Given the description of an element on the screen output the (x, y) to click on. 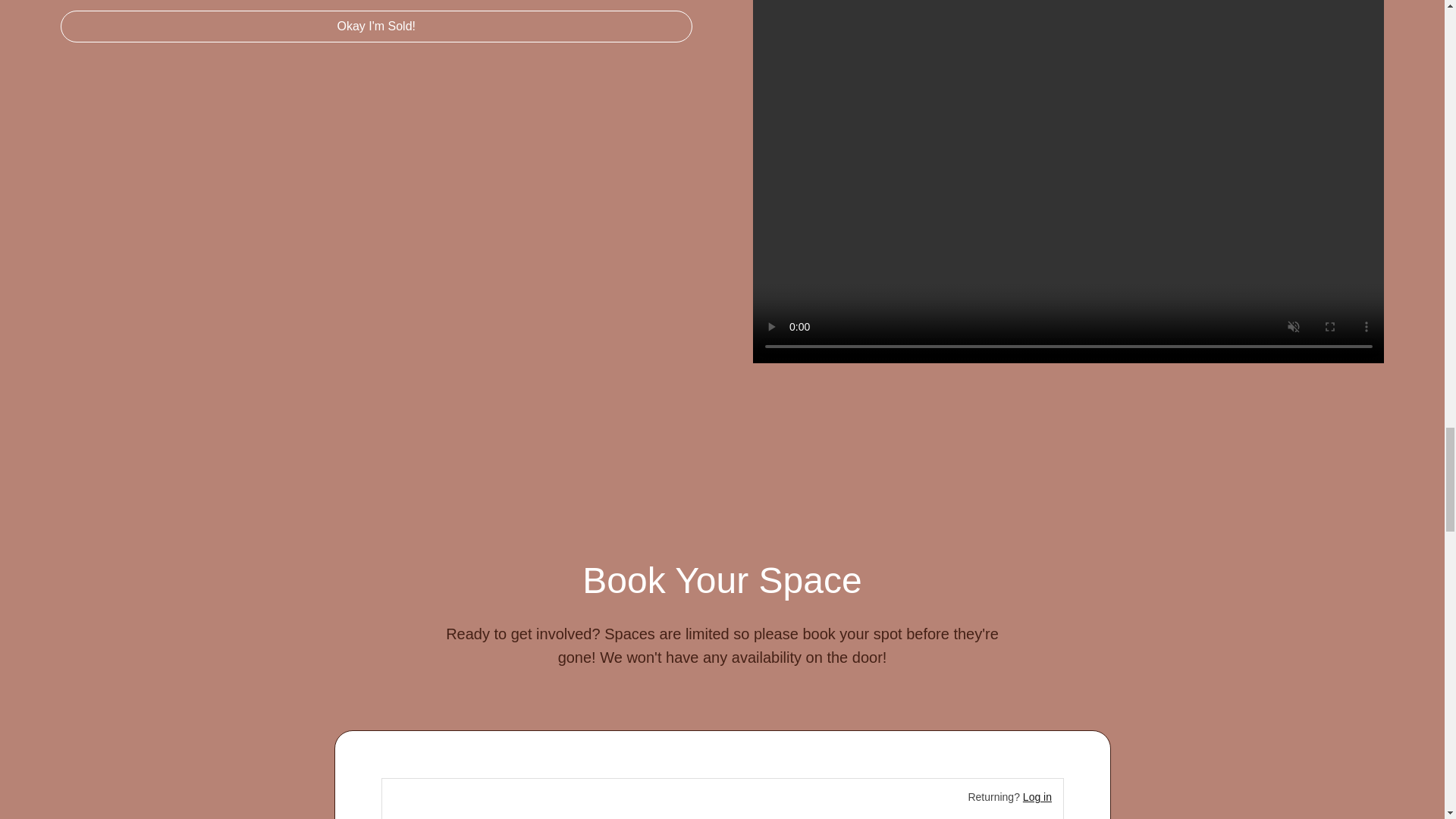
Okay I'm Sold! (377, 26)
